Given the description of an element on the screen output the (x, y) to click on. 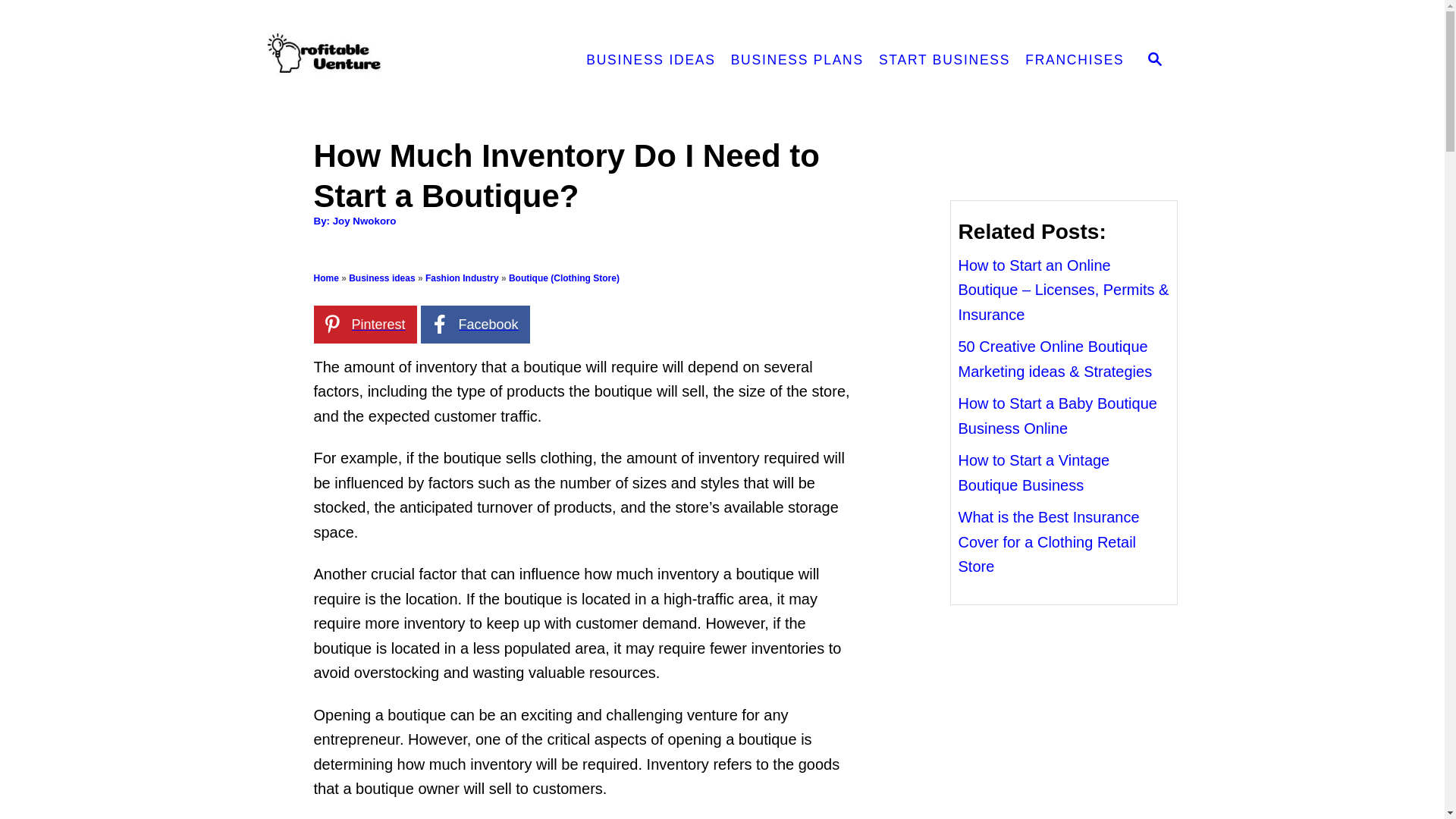
Pinterest (365, 324)
Facebook (474, 324)
What is the Best Insurance Cover for a Clothing Retail Store (1049, 541)
START BUSINESS (943, 60)
Home (326, 277)
Business ideas (381, 277)
How to Start a Baby Boutique Business Online (1057, 415)
BUSINESS PLANS (796, 60)
Joy Nwokoro (364, 220)
BUSINESS IDEAS (650, 60)
ProfitableVenture (400, 60)
Fashion Industry (462, 277)
FRANCHISES (1074, 60)
How to Start a Vintage Boutique Business (1033, 472)
SEARCH (1154, 60)
